Given the description of an element on the screen output the (x, y) to click on. 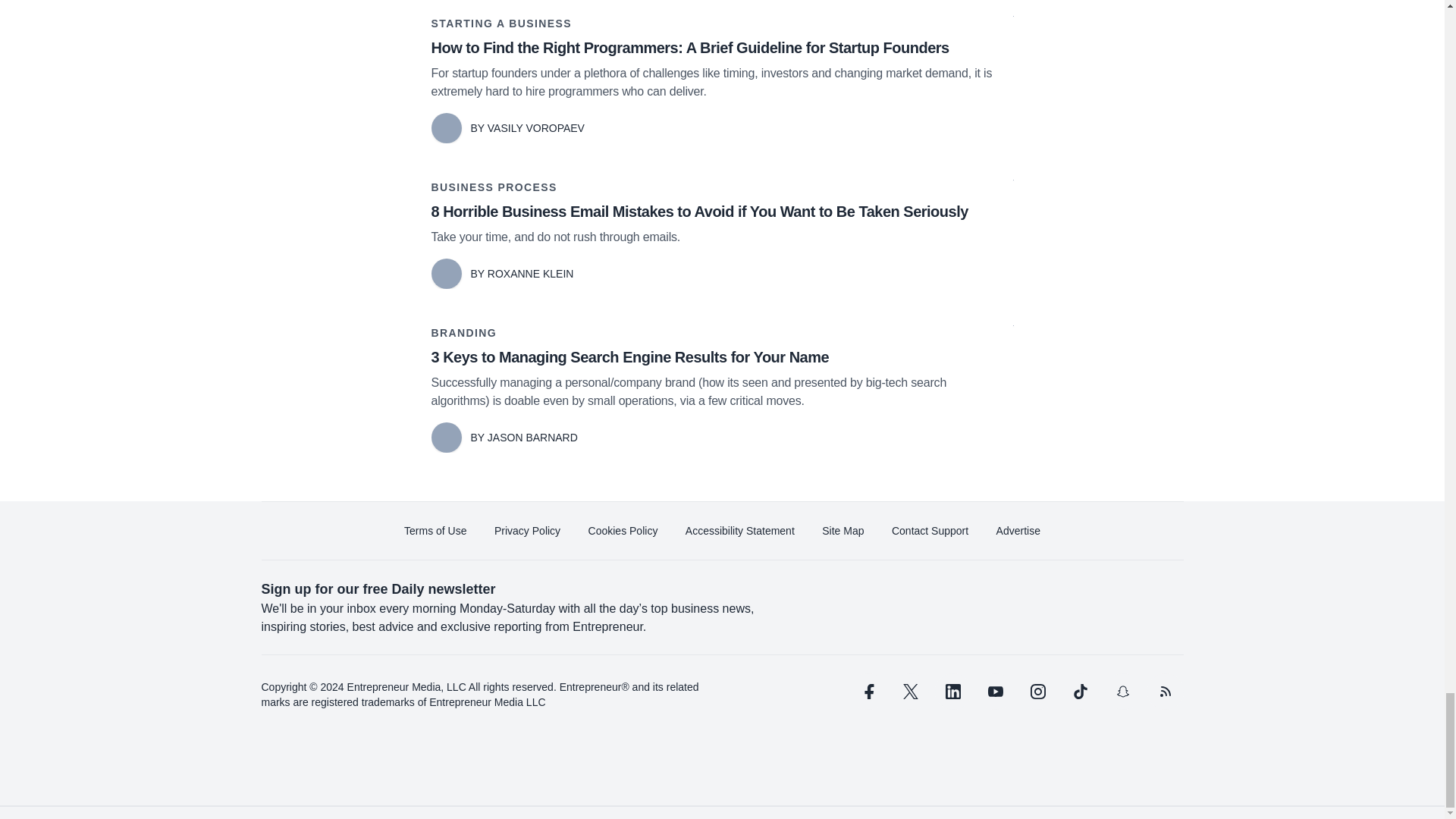
facebook (866, 691)
tiktok (1079, 691)
snapchat (1121, 691)
linkedin (952, 691)
youtube (994, 691)
instagram (1037, 691)
twitter (909, 691)
